Given the description of an element on the screen output the (x, y) to click on. 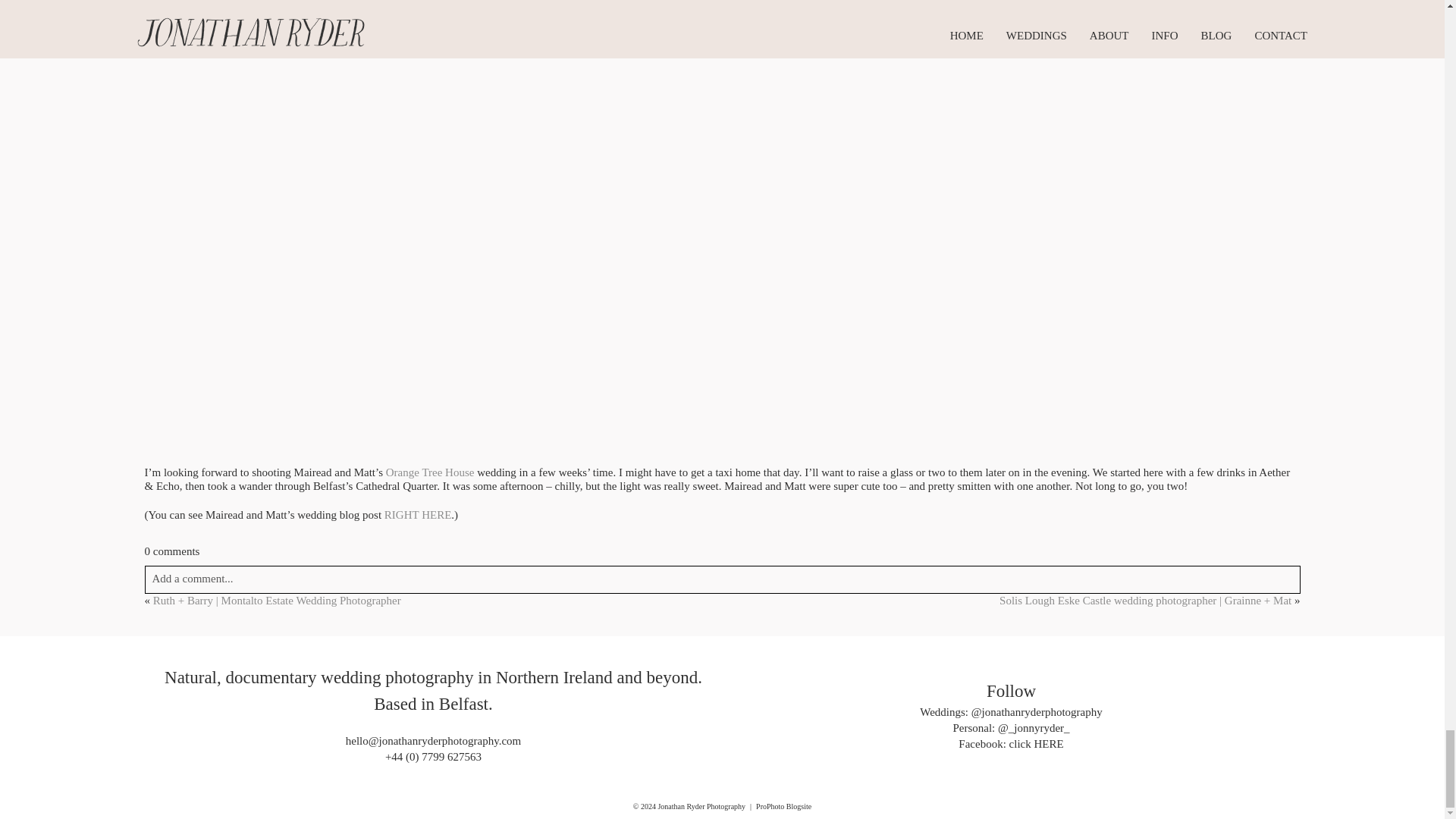
Orange Tree House (429, 472)
RIGHT HERE (417, 514)
HERE (1047, 743)
ProPhoto Photography Theme (782, 806)
ProPhoto Blogsite (782, 806)
